Given the description of an element on the screen output the (x, y) to click on. 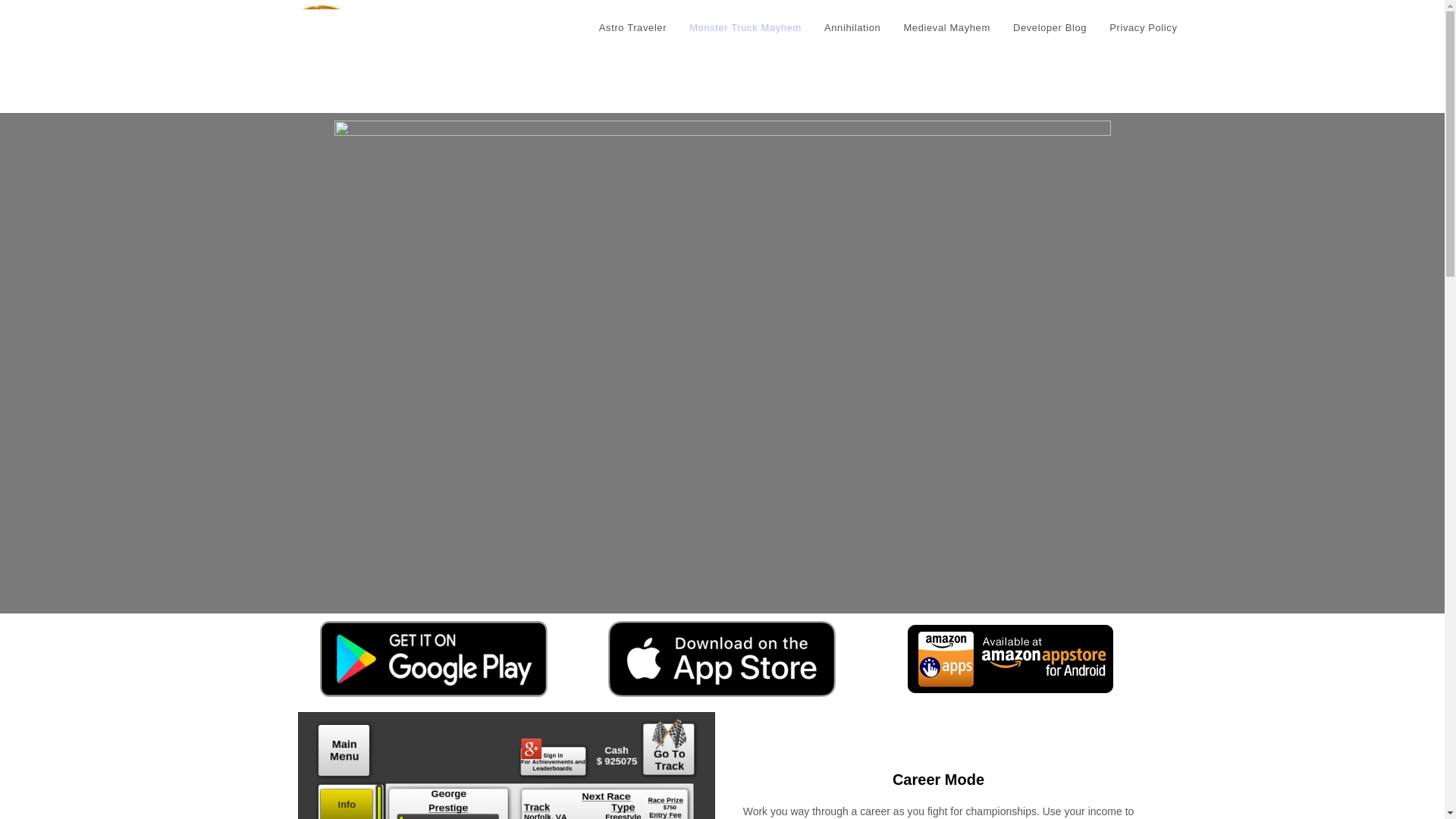
Astro Traveler (633, 28)
Monster Truck Mayhem (745, 28)
Medieval Mayhem (946, 28)
Developer Blog (1049, 28)
Annihilation (851, 28)
Privacy Policy (1142, 28)
